Given the description of an element on the screen output the (x, y) to click on. 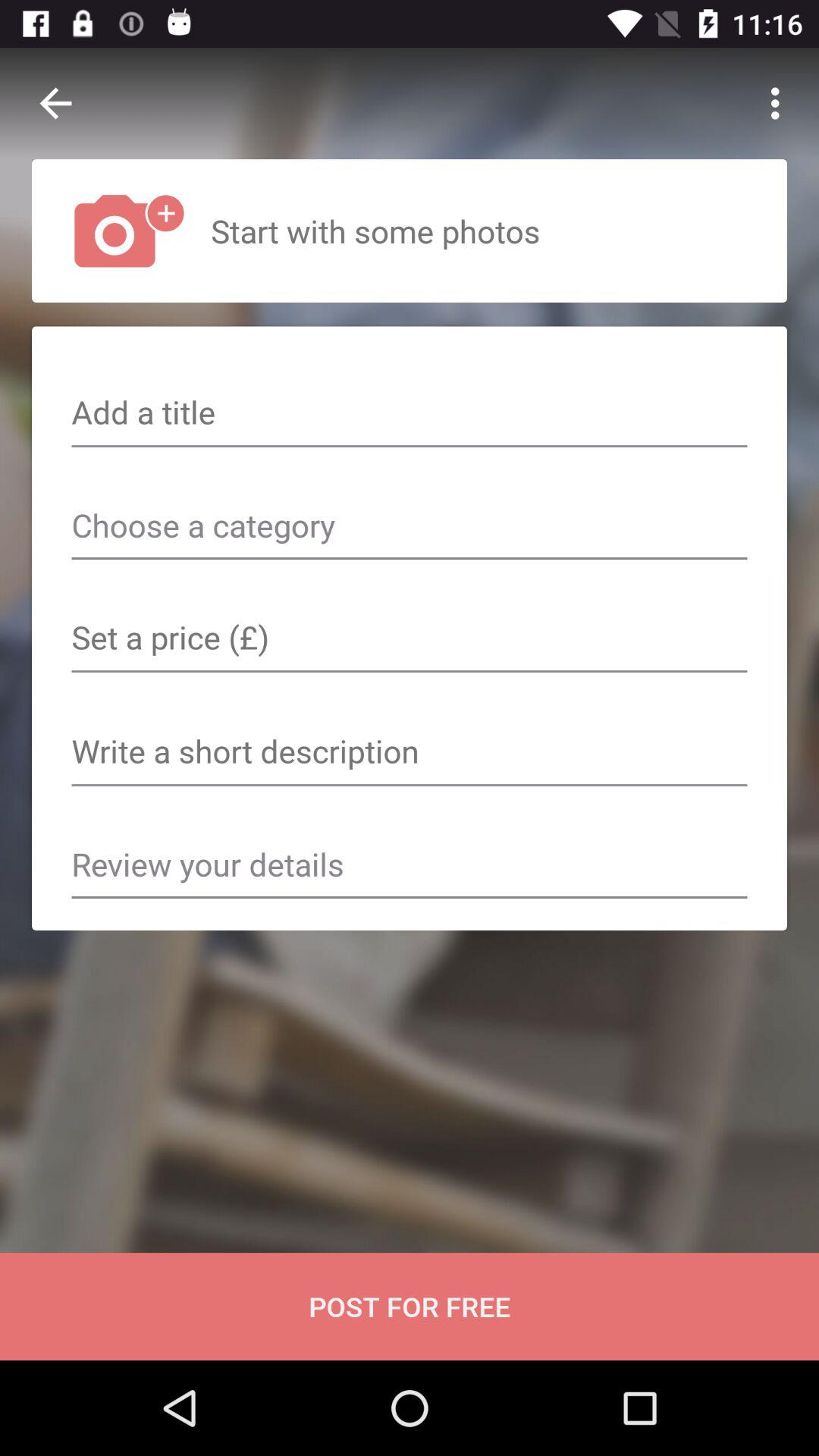
it is camera settings (409, 639)
